Given the description of an element on the screen output the (x, y) to click on. 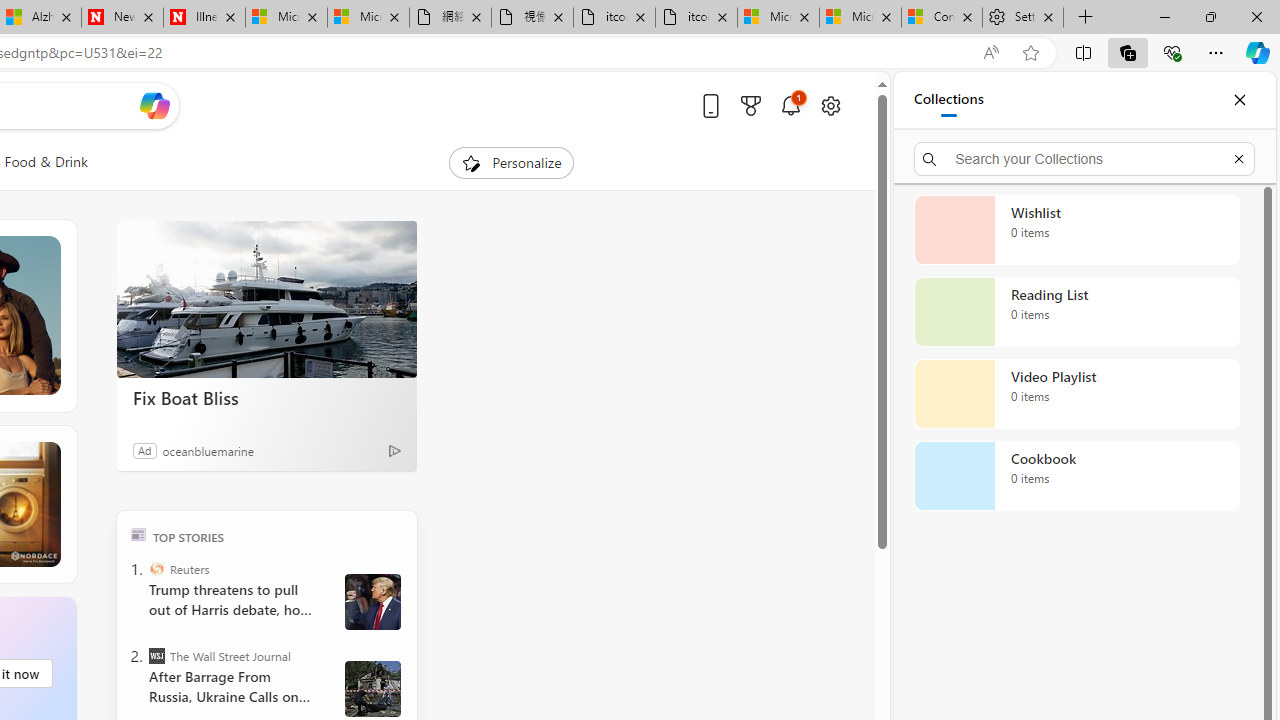
oceanbluemarine (207, 450)
TOP (138, 534)
